Given the description of an element on the screen output the (x, y) to click on. 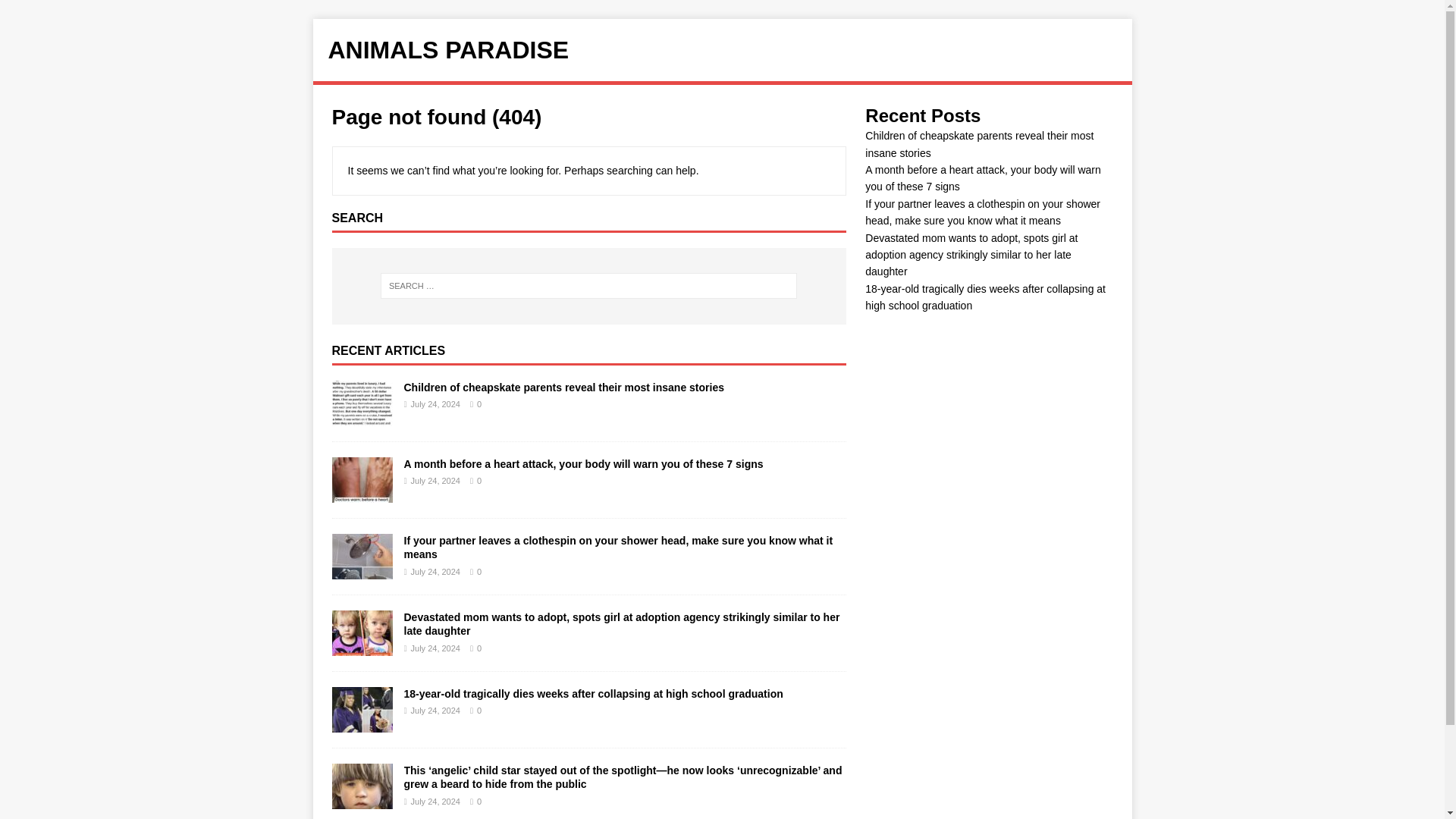
0 (479, 800)
0 (479, 480)
Search (56, 11)
0 (479, 403)
Animals Paradise (721, 49)
